Given the description of an element on the screen output the (x, y) to click on. 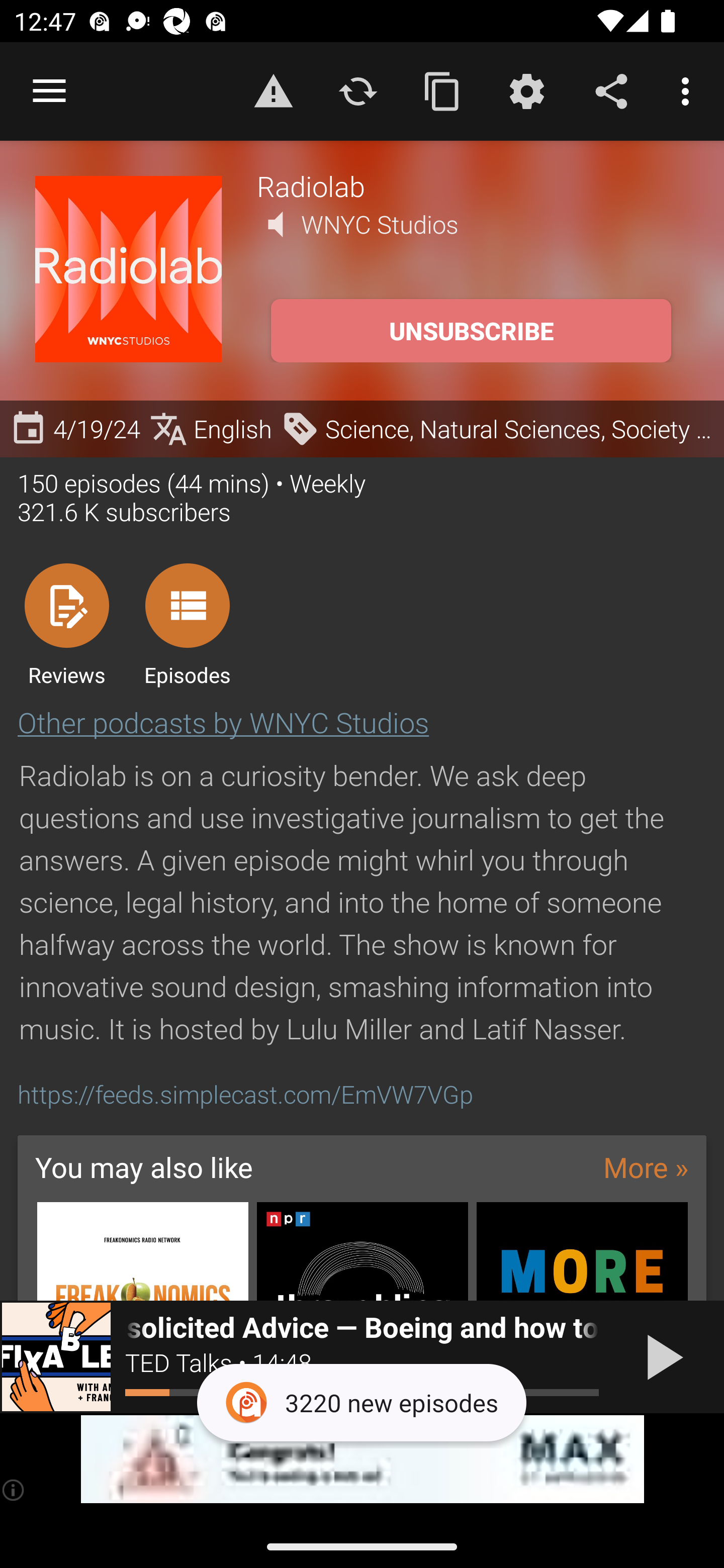
Open navigation sidebar (49, 91)
Report inappropriate content (272, 90)
Refresh podcast description (357, 90)
Copy feed url to clipboard (442, 90)
Custom Settings (526, 90)
Share the podcast (611, 90)
More options (688, 90)
Radiolab (472, 185)
WNYC Studios (379, 223)
UNSUBSCRIBE (470, 330)
Reviews (66, 623)
Episodes (187, 623)
Other podcasts by WNYC Studios (223, 721)
More » (645, 1166)
Play / Pause (660, 1356)
app-monetization (362, 1459)
(i) (14, 1489)
